Given the description of an element on the screen output the (x, y) to click on. 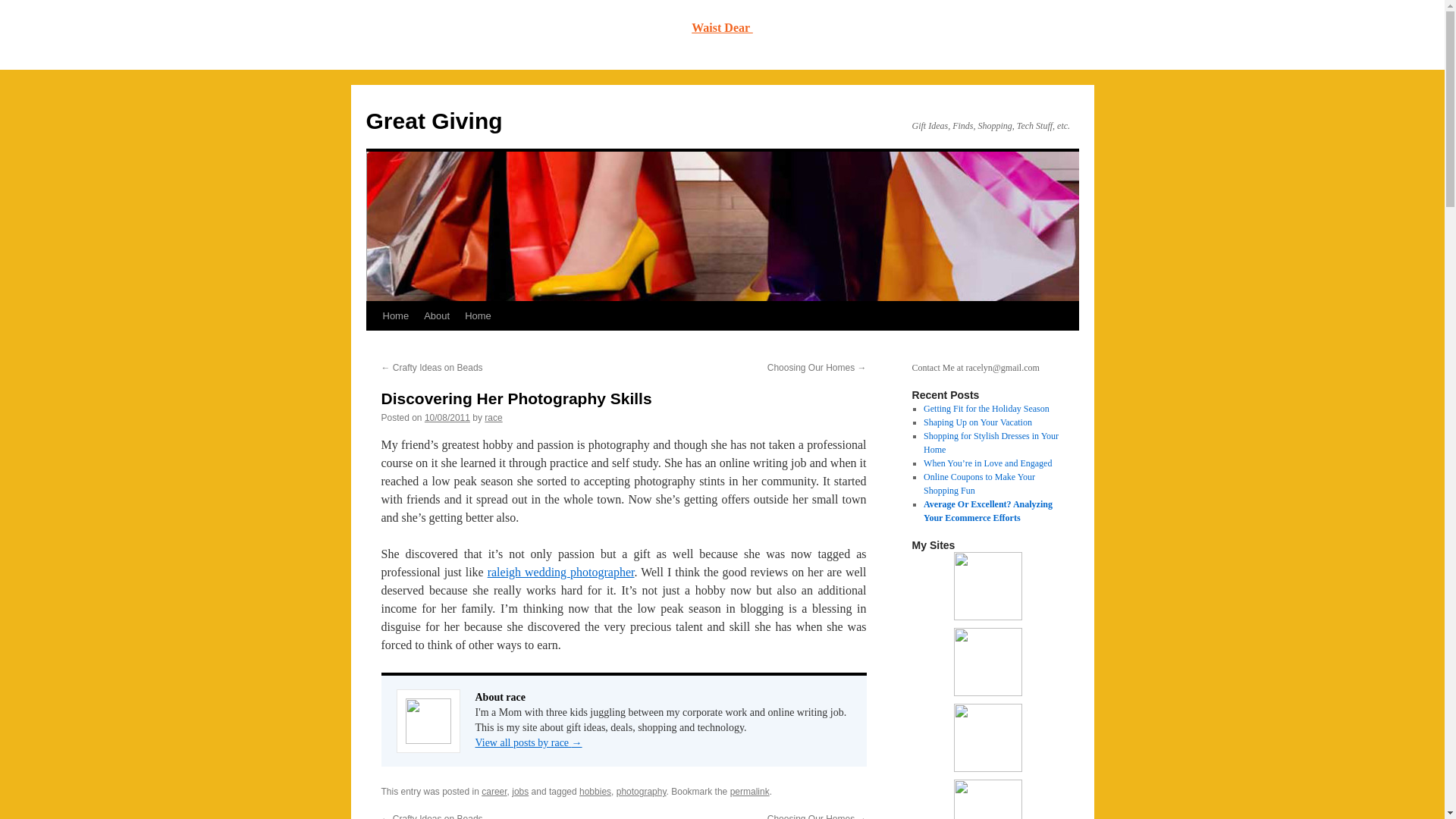
jobs (520, 791)
Shaping Up on Your Vacation (977, 421)
About (436, 316)
career (493, 791)
Average Or Excellent? Analyzing Your Ecommerce Efforts (987, 510)
Getting Fit for the Holiday Season (986, 408)
Shopping for Stylish Dresses in Your Home (990, 442)
raleigh wedding photographer (560, 571)
Waist Dear  (721, 27)
hobbies (595, 791)
